Given the description of an element on the screen output the (x, y) to click on. 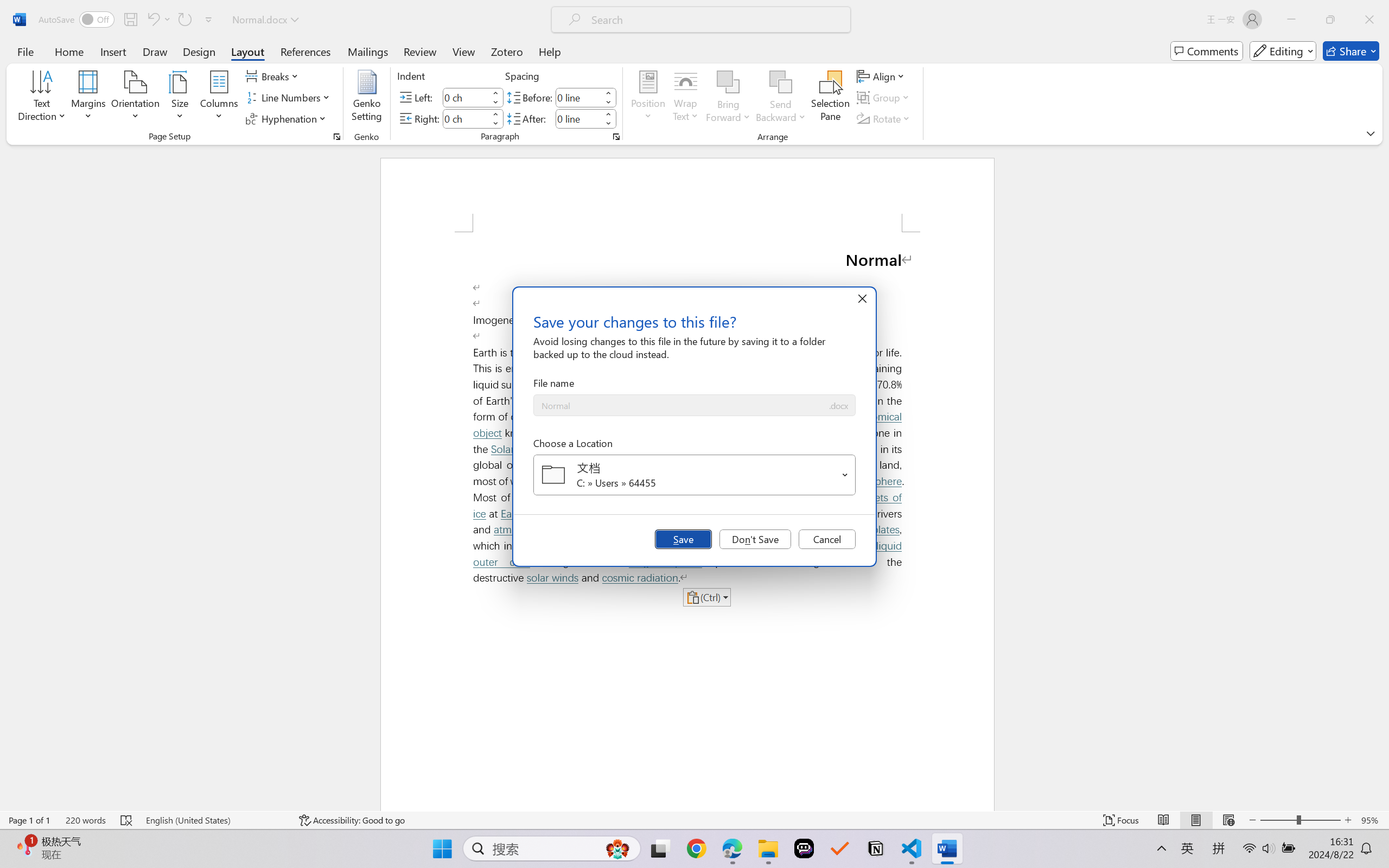
Don't Save (755, 538)
Position (647, 97)
Less (608, 123)
More (608, 113)
